Given the description of an element on the screen output the (x, y) to click on. 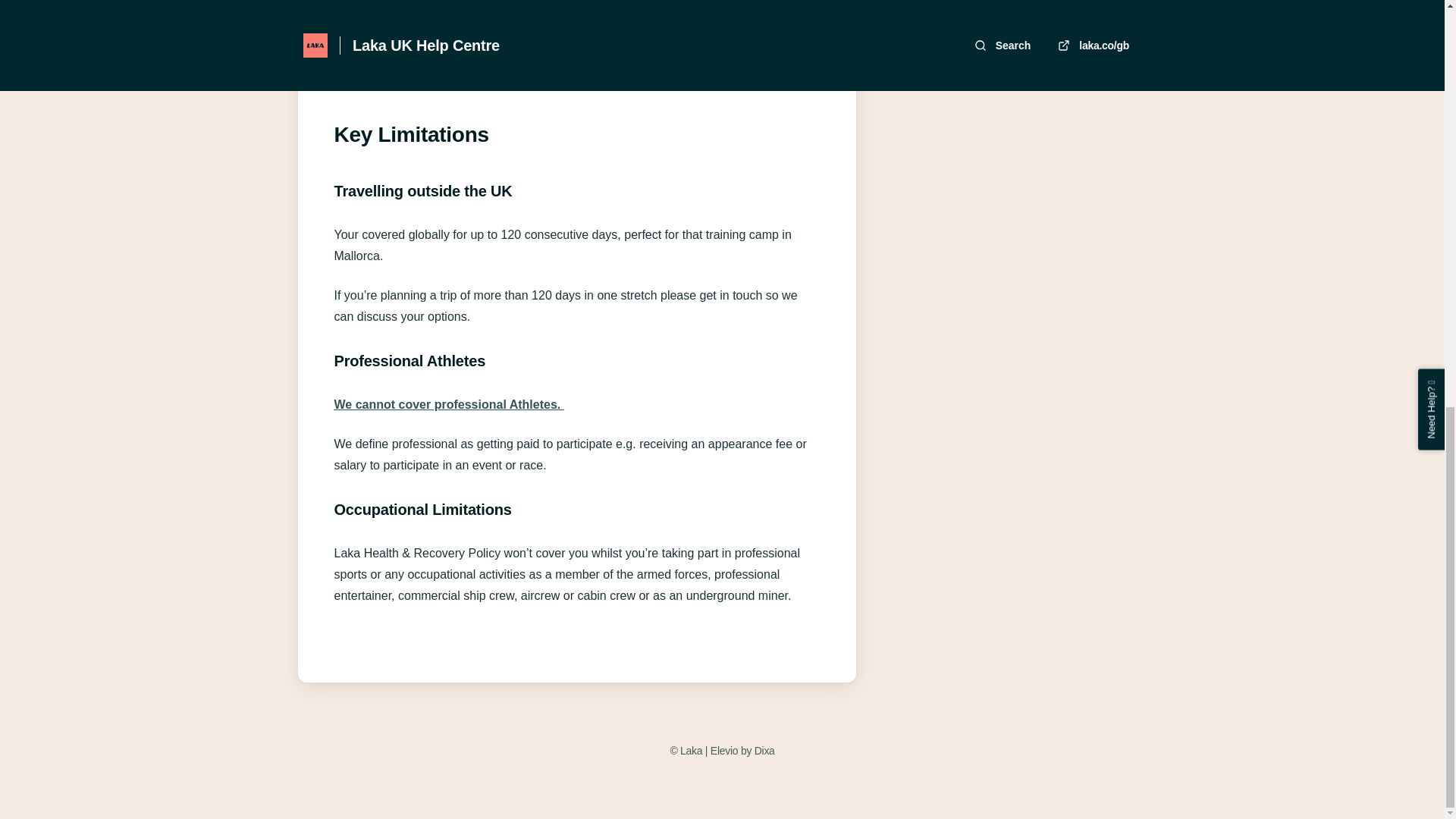
We cannot cover professional Athletes.  (448, 404)
Laka Recovery Benefits (716, 78)
Laka Recovery Credits (434, 78)
Dixa (764, 750)
